Given the description of an element on the screen output the (x, y) to click on. 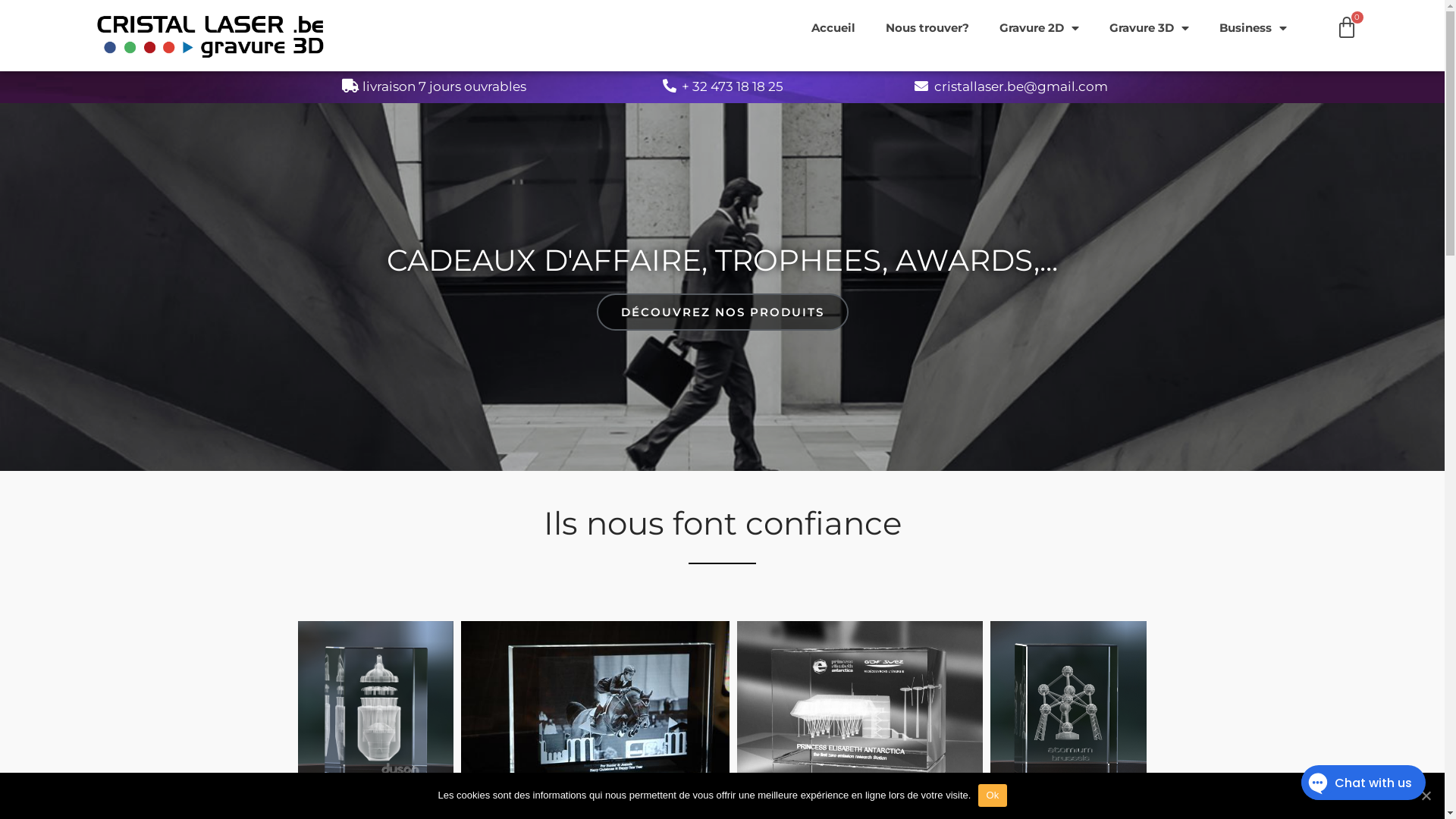
Ok Element type: text (992, 795)
Business Element type: text (1253, 27)
Gravure 3D Element type: text (1149, 27)
Nous trouver? Element type: text (927, 27)
Accueil Element type: text (833, 27)
Gravure 2D Element type: text (1039, 27)
